Given the description of an element on the screen output the (x, y) to click on. 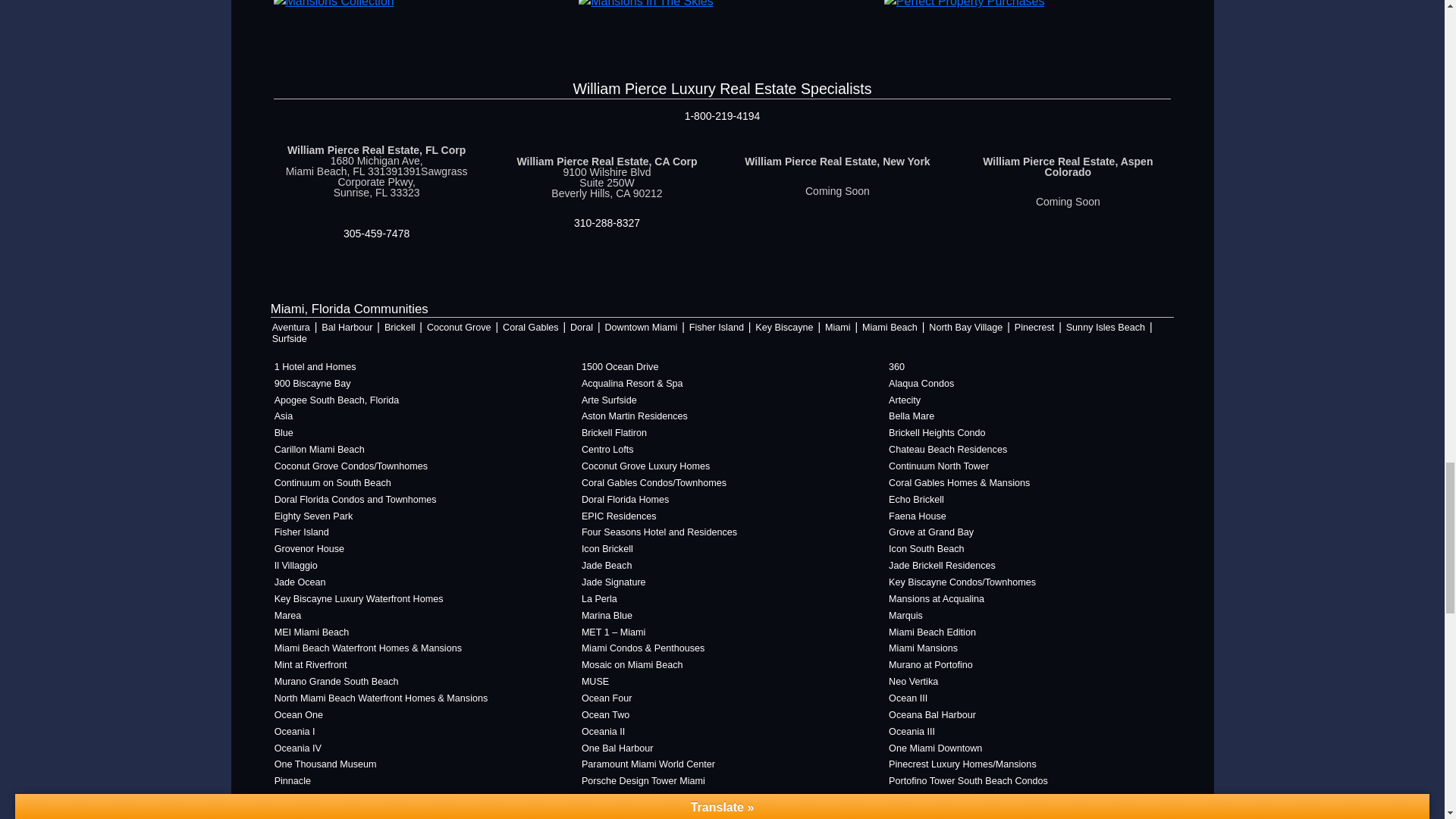
1 Hotel and Homes (414, 367)
Perfect Property Purchases (964, 3)
Mansions In The Skies (645, 3)
360 (1029, 367)
1500 Ocean Drive (722, 367)
Mansions Collection (333, 3)
900 Biscayne Bay (414, 384)
